Given the description of an element on the screen output the (x, y) to click on. 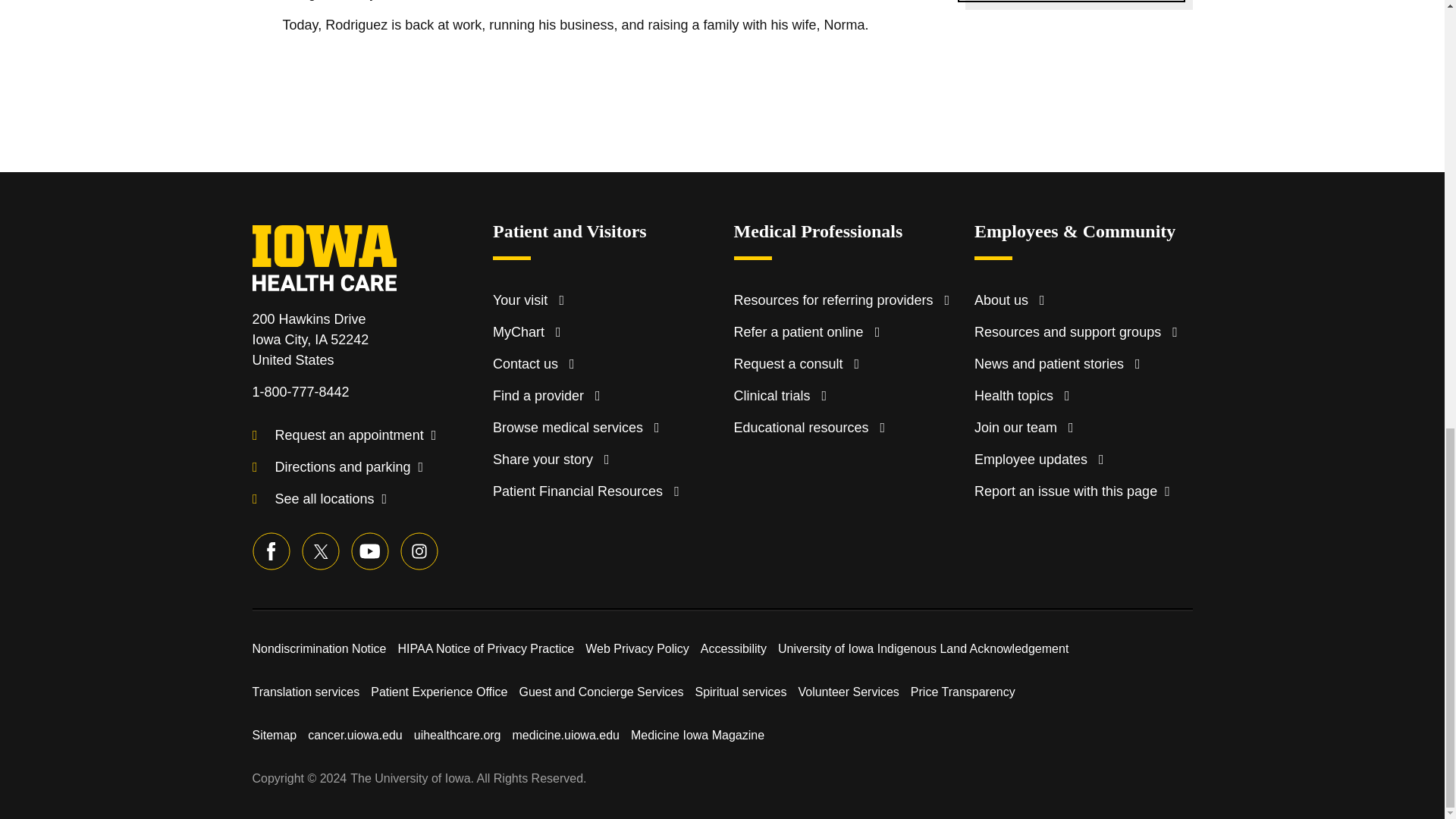
Home (338, 246)
